Given the description of an element on the screen output the (x, y) to click on. 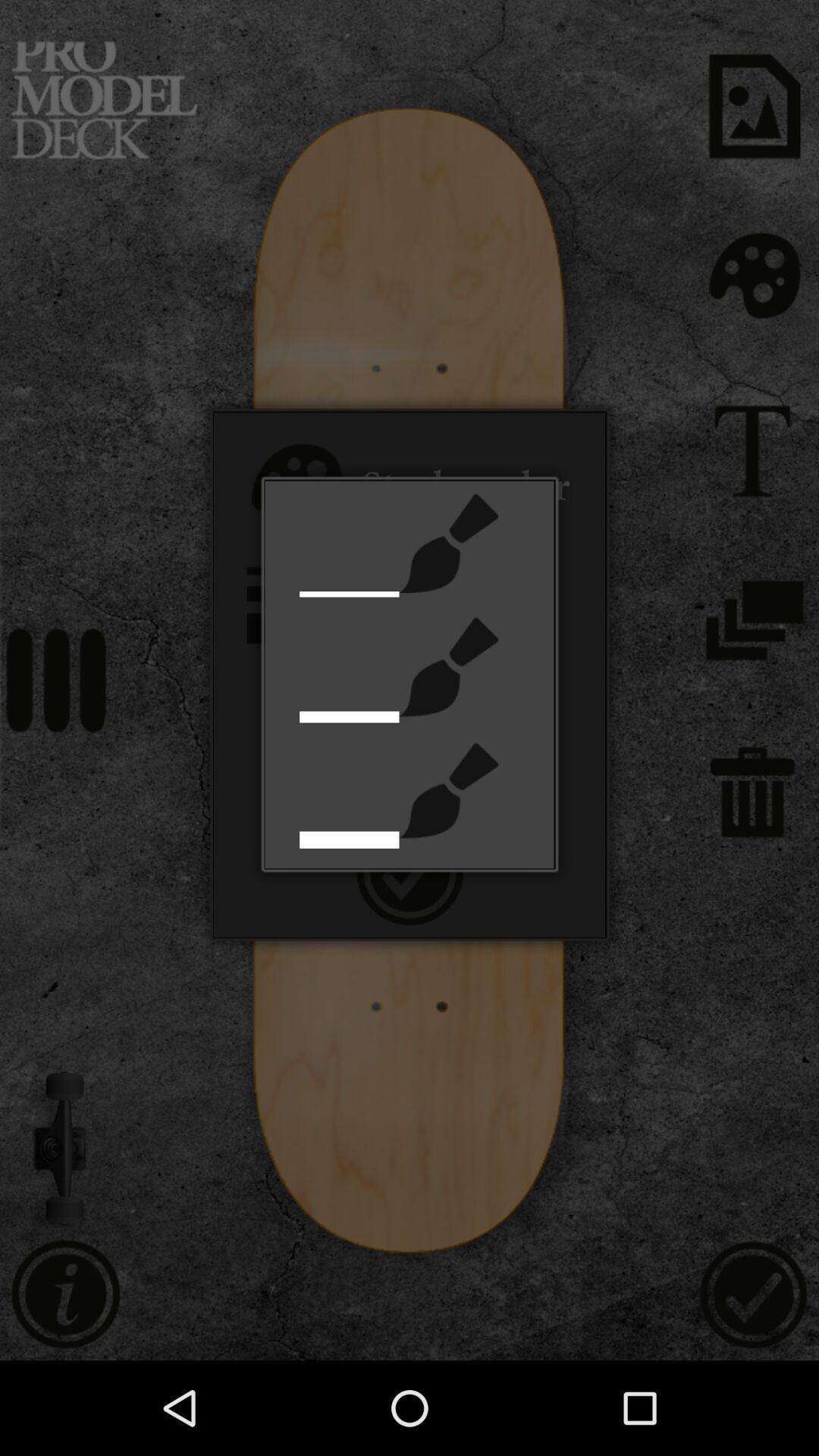
painting (448, 790)
